Given the description of an element on the screen output the (x, y) to click on. 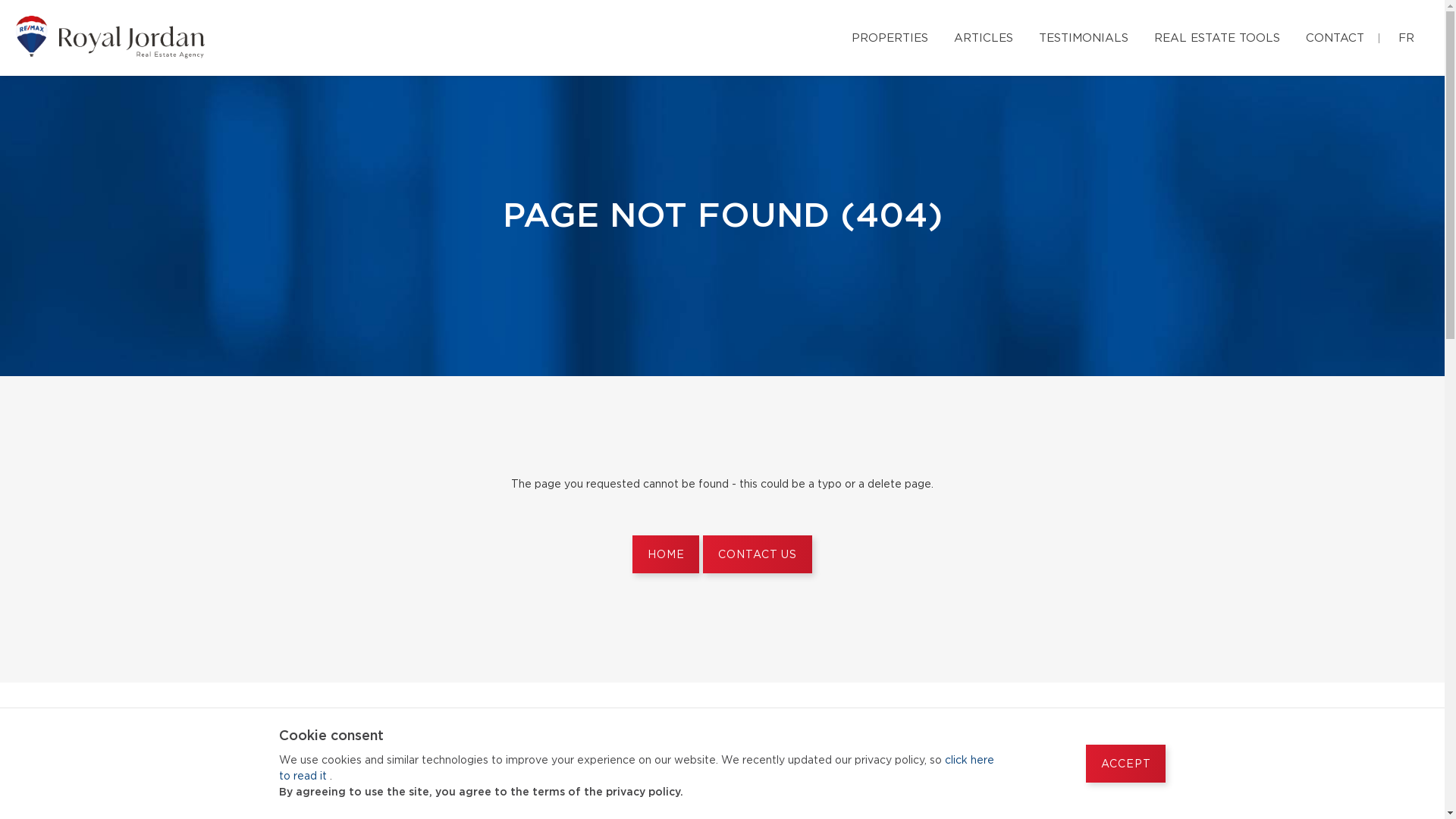
FR Element type: text (1406, 37)
CONTACT US Element type: text (756, 554)
REAL ESTATE TOOLS Element type: text (1216, 37)
ARTICLES Element type: text (983, 37)
ACCEPT Element type: text (1125, 763)
HOME Element type: text (665, 554)
click here to read it Element type: text (636, 768)
PROPERTIES Element type: text (889, 37)
CONTACT Element type: text (1335, 37)
TESTIMONIALS Element type: text (1083, 37)
